Given the description of an element on the screen output the (x, y) to click on. 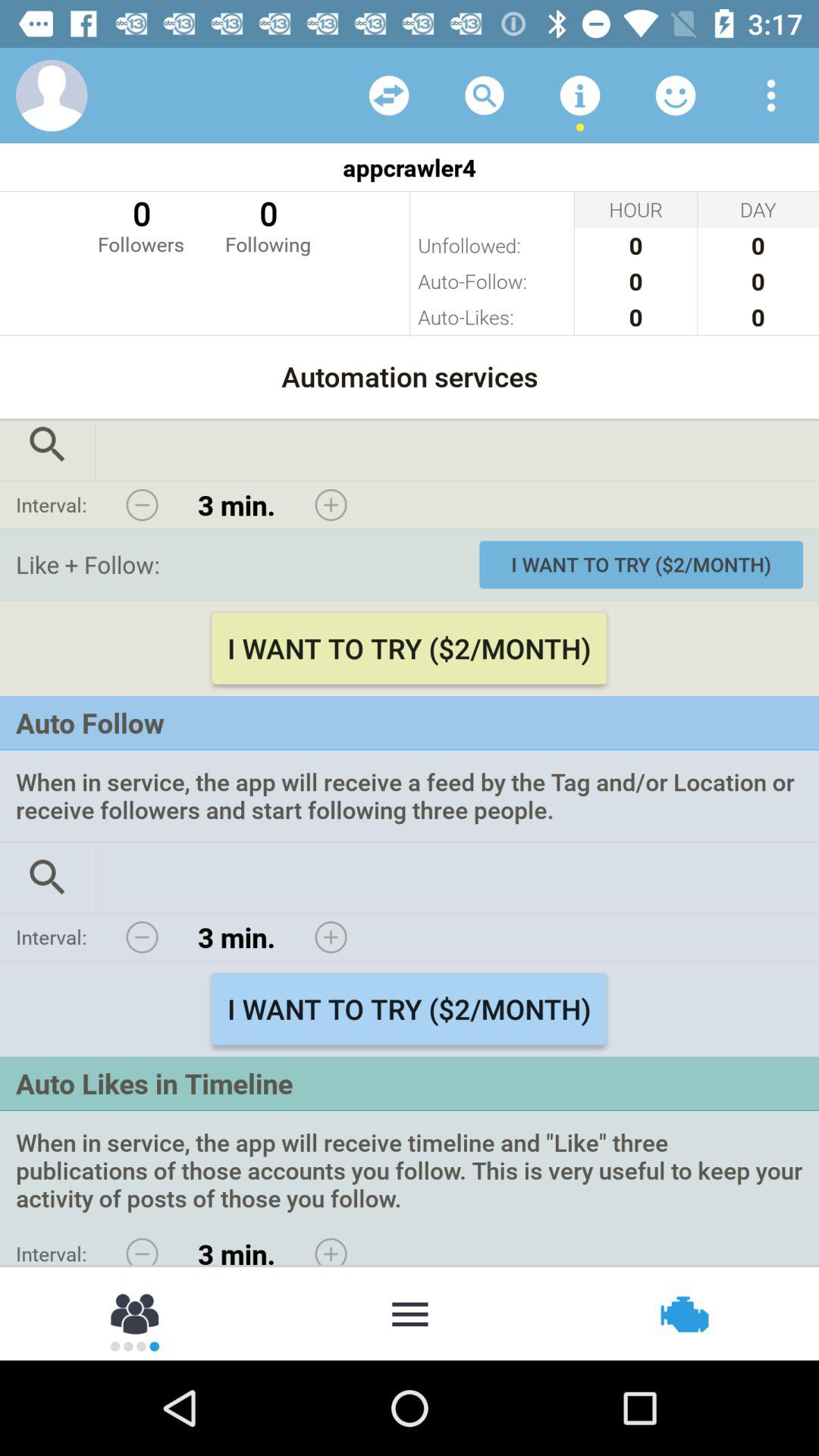
rate the application or provide feedback (675, 95)
